Given the description of an element on the screen output the (x, y) to click on. 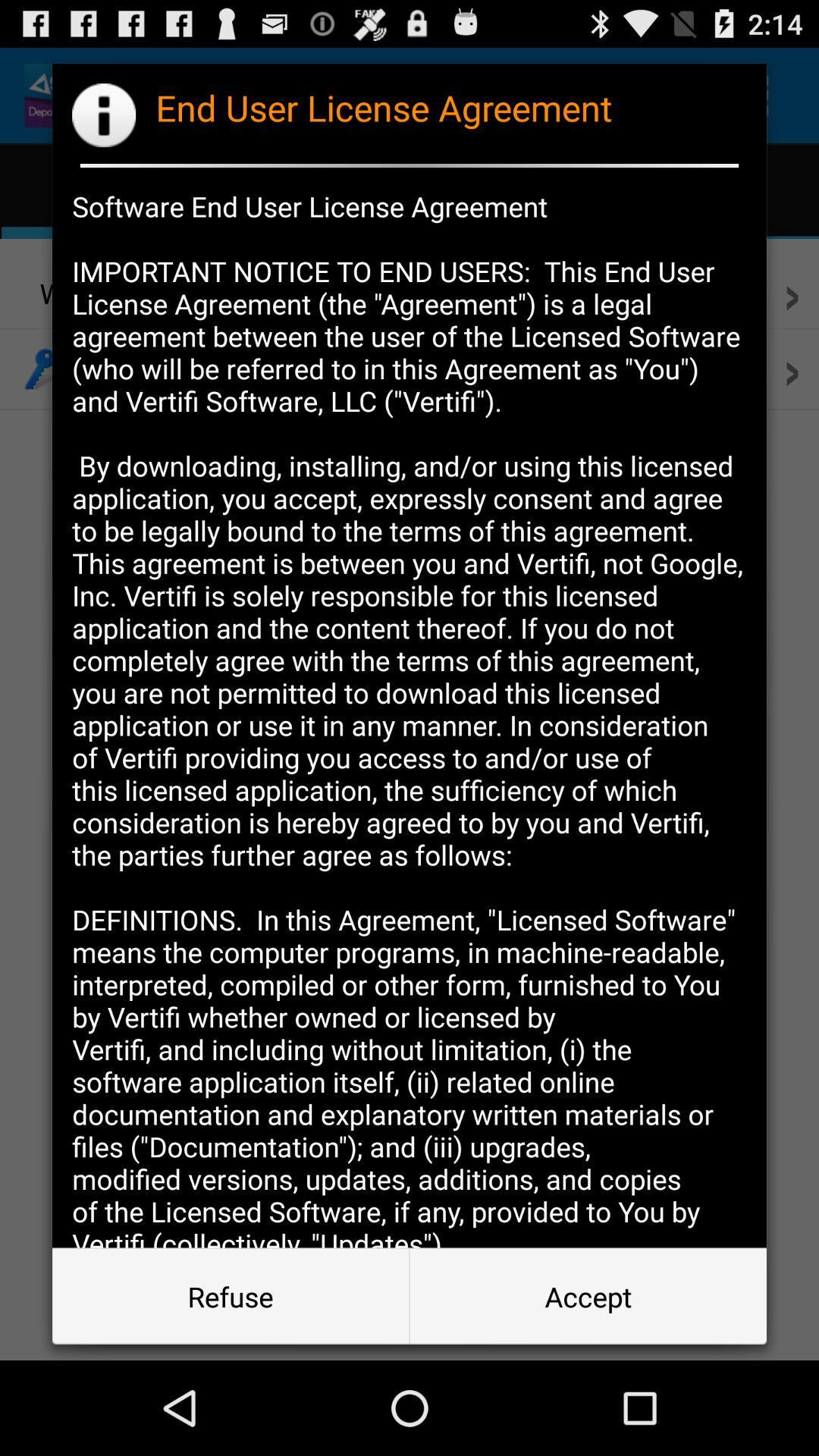
choose the accept at the bottom right corner (588, 1296)
